Given the description of an element on the screen output the (x, y) to click on. 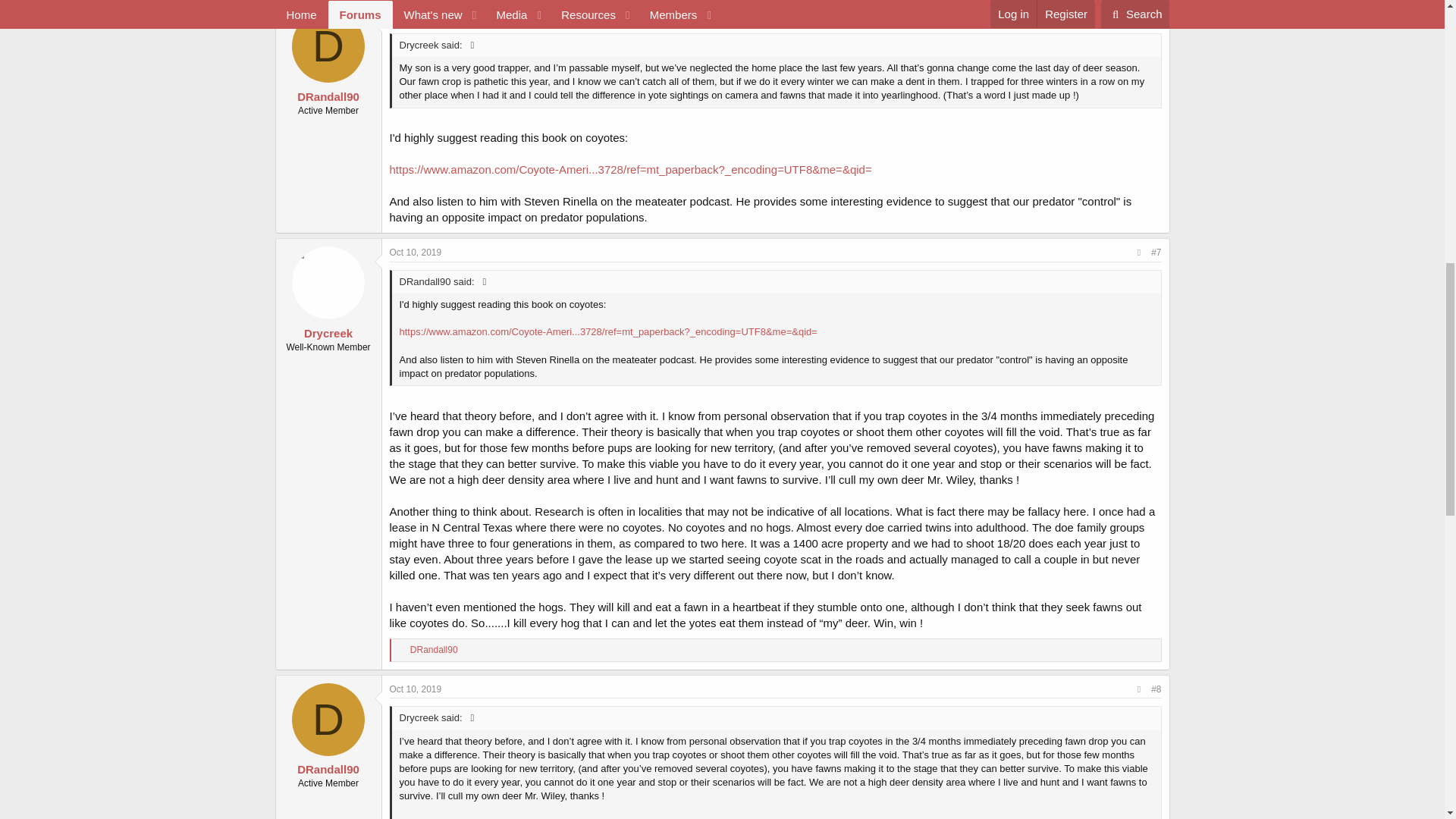
Oct 10, 2019 at 2:03 PM (416, 252)
Like (401, 650)
Oct 10, 2019 at 10:32 AM (416, 15)
